Given the description of an element on the screen output the (x, y) to click on. 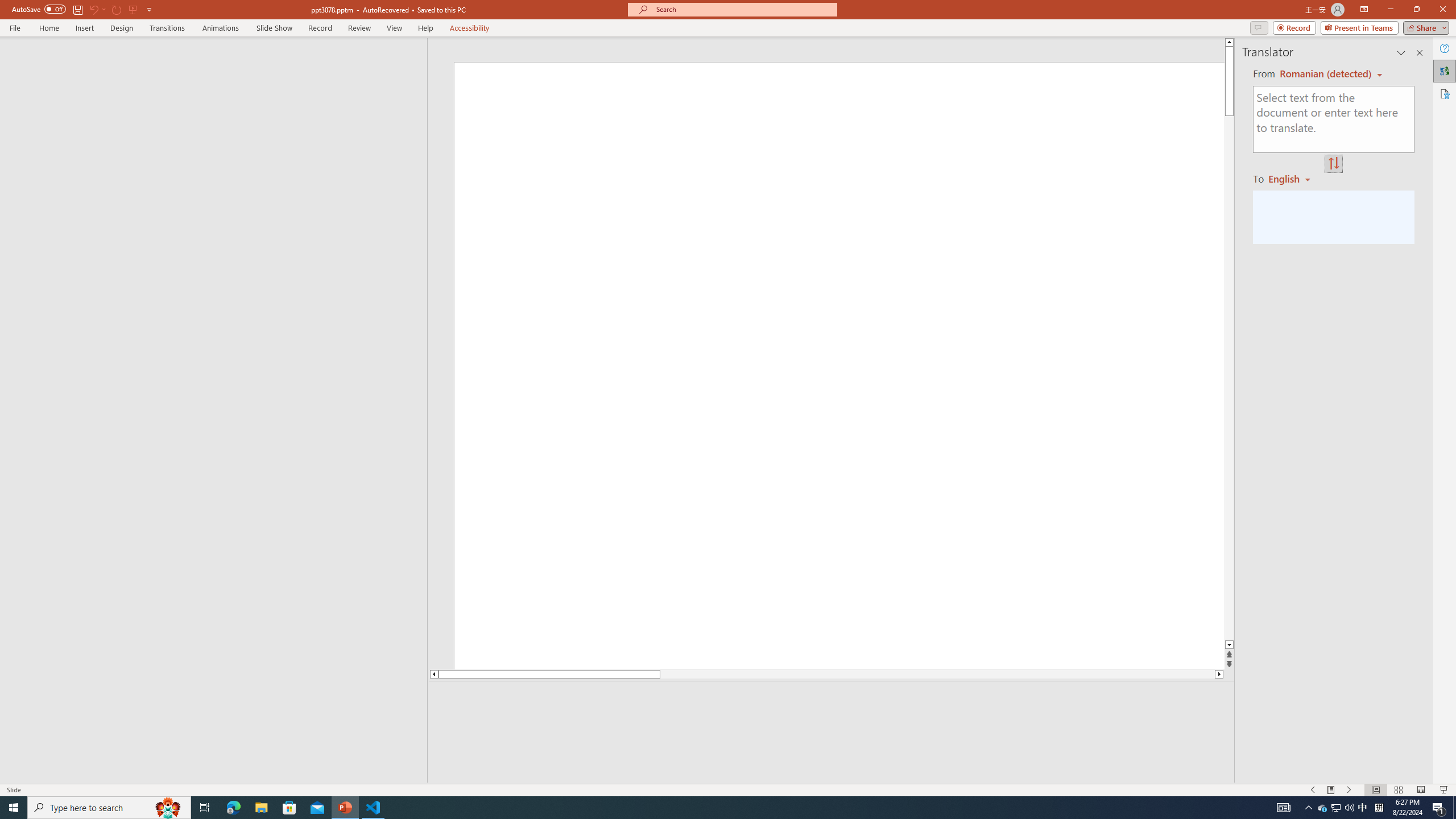
Romanian (1293, 178)
Slide Show Next On (1349, 790)
